Given the description of an element on the screen output the (x, y) to click on. 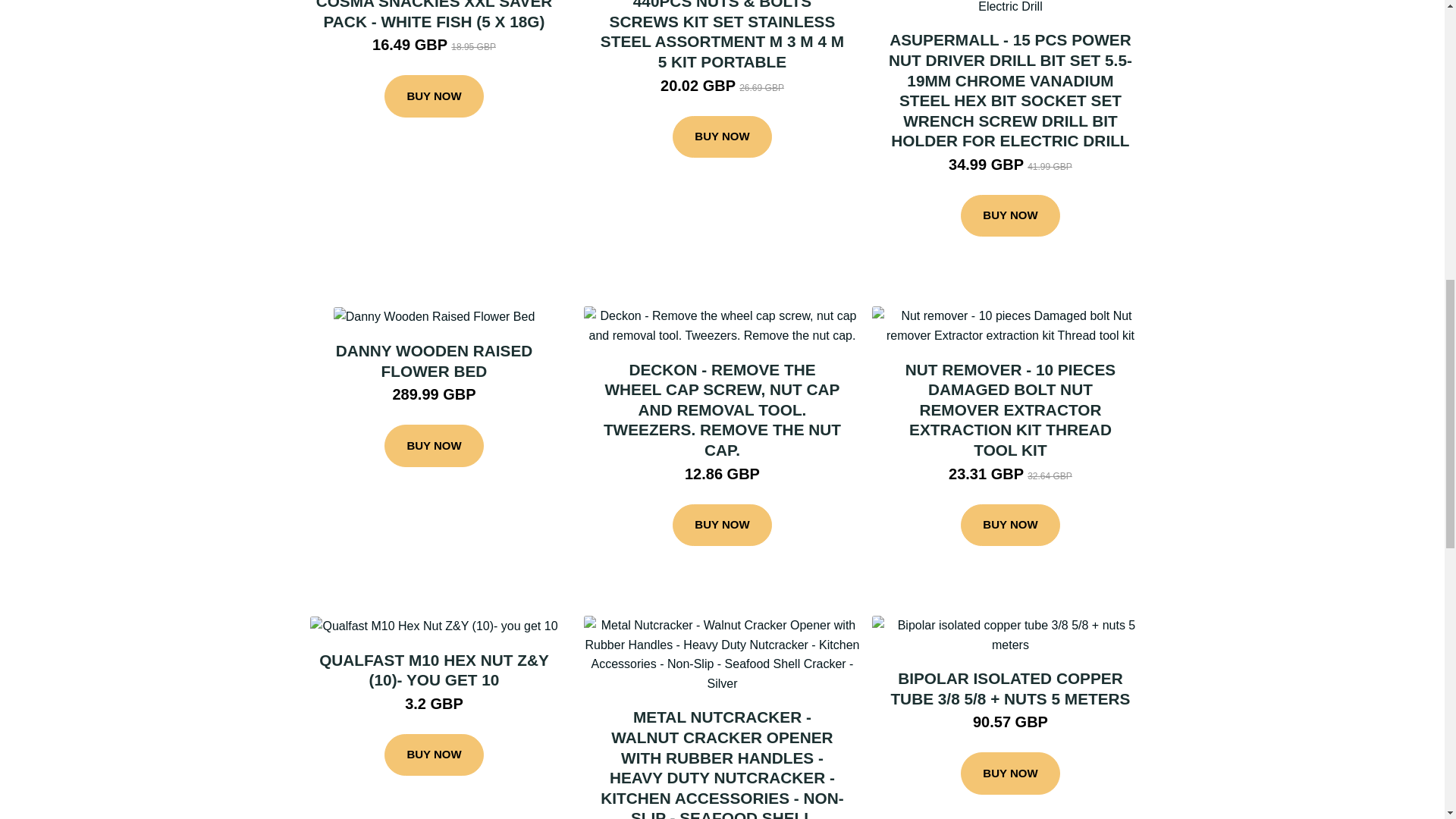
BUY NOW (1009, 215)
BUY NOW (721, 137)
BUY NOW (1009, 525)
DANNY WOODEN RAISED FLOWER BED (434, 361)
BUY NOW (433, 754)
BUY NOW (433, 445)
BUY NOW (721, 525)
BUY NOW (433, 96)
